Given the description of an element on the screen output the (x, y) to click on. 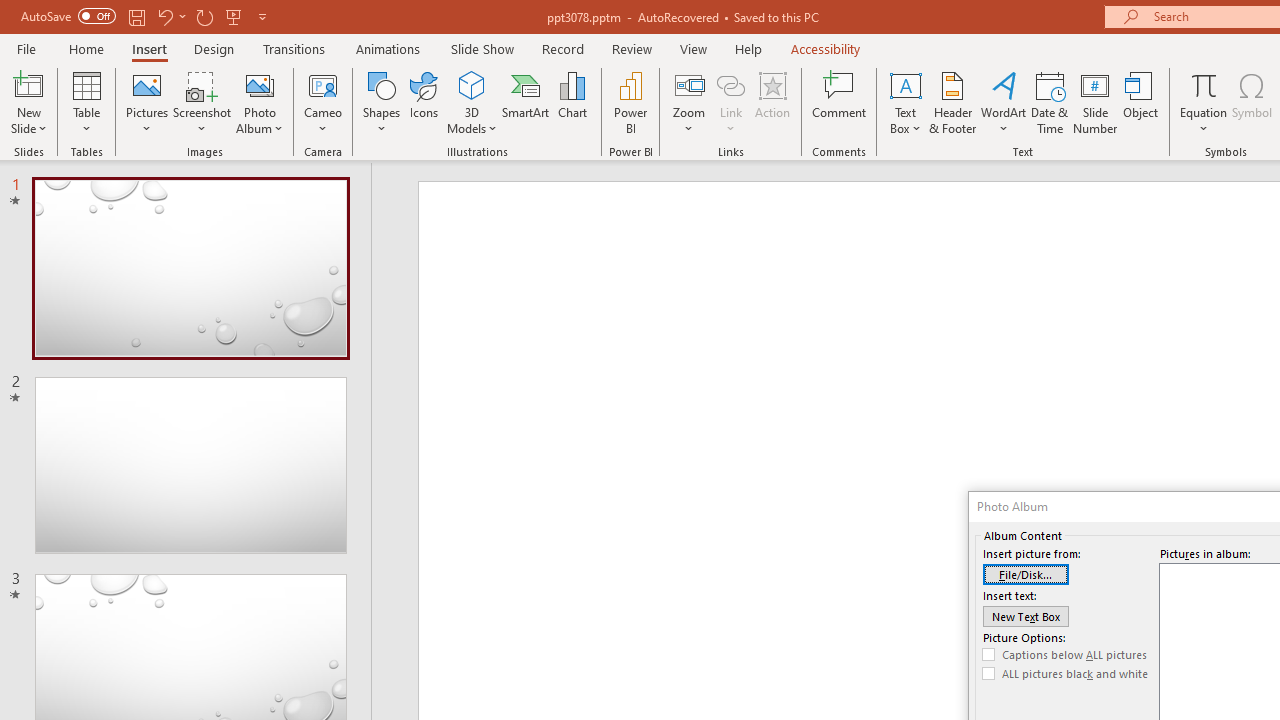
Screenshot (202, 102)
Comment (839, 102)
ALL pictures black and white (1065, 673)
Object... (1141, 102)
